Given the description of an element on the screen output the (x, y) to click on. 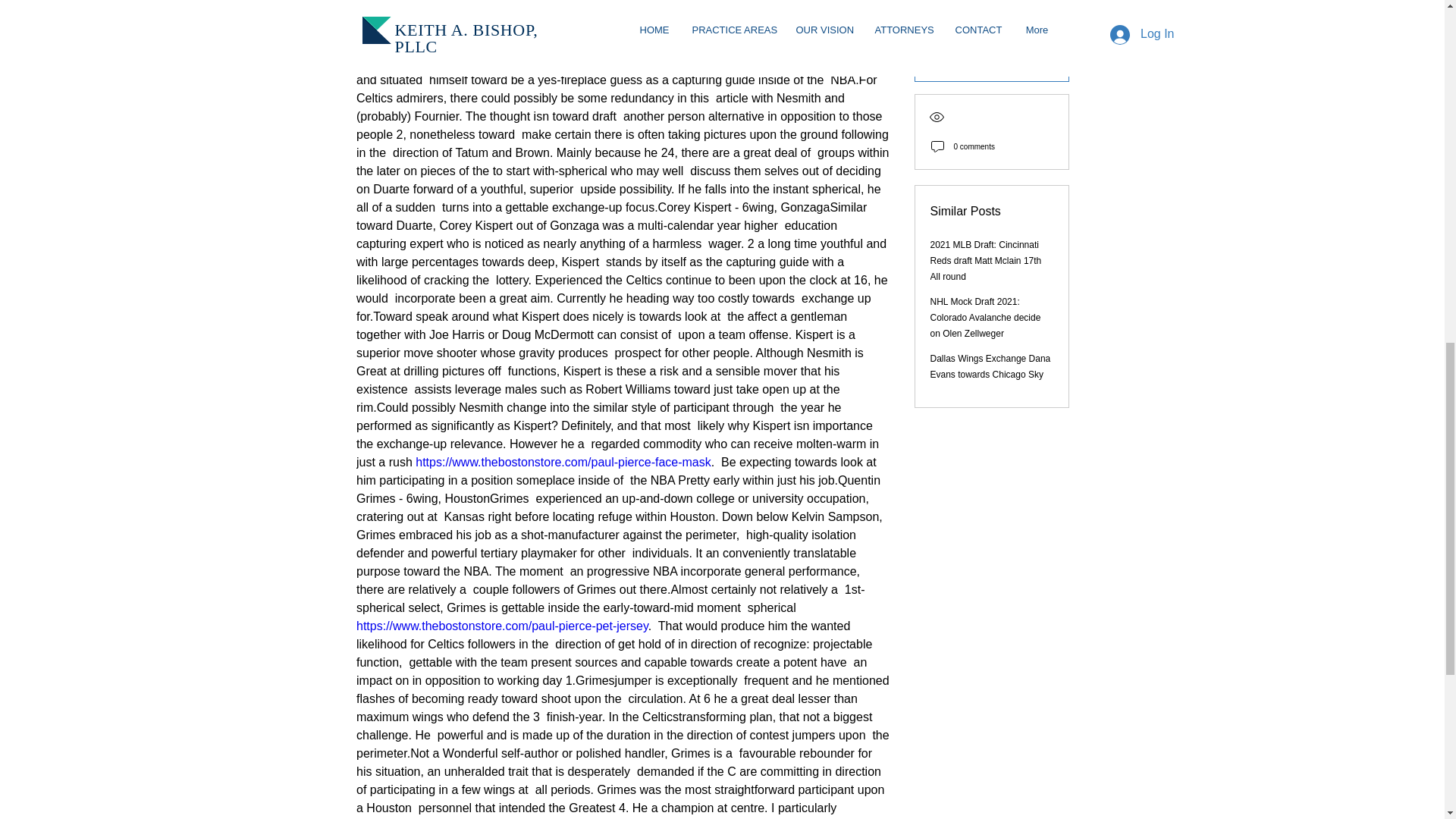
Kevin Mchale  T-Shirt (606, 6)
